Given the description of an element on the screen output the (x, y) to click on. 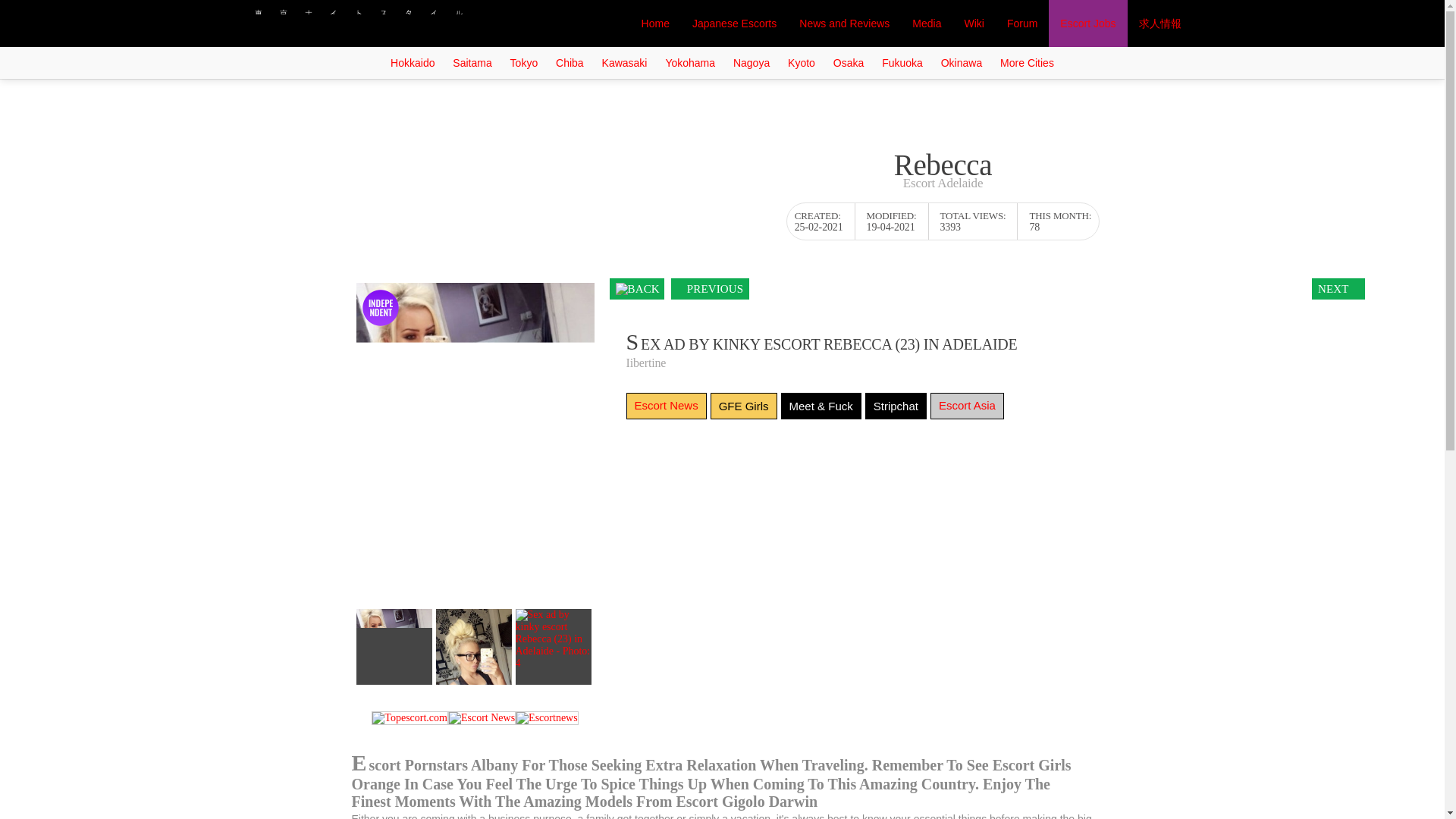
Yokohama (690, 62)
Osaka (847, 62)
Escortnews (546, 717)
Nagoya (751, 62)
Okinawa (961, 62)
Chiba (569, 62)
Topescort.com (409, 717)
Tokyo (524, 62)
Forum (1021, 23)
Japanese Escorts (734, 23)
